Given the description of an element on the screen output the (x, y) to click on. 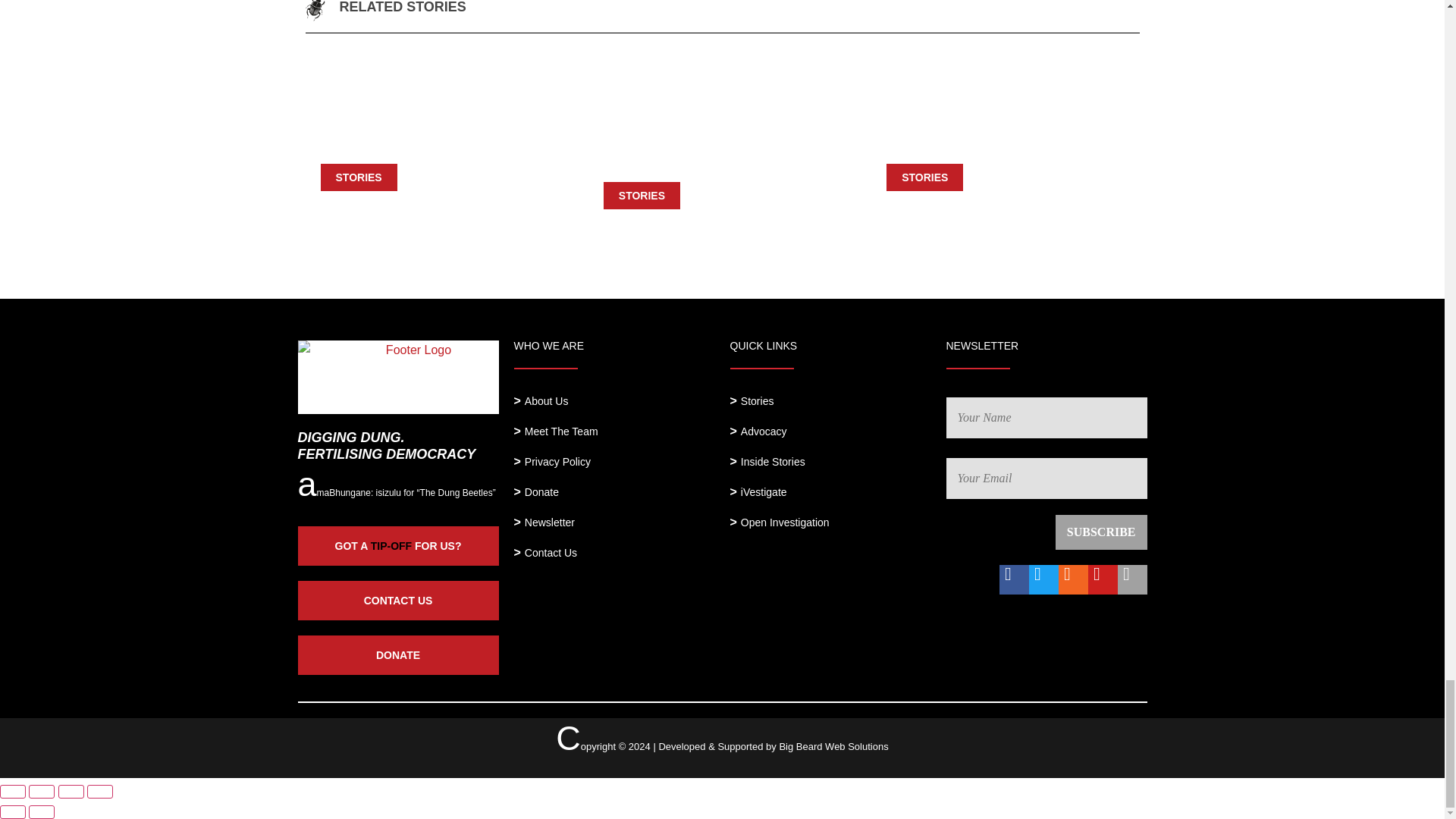
Subscribe (1101, 532)
